Given the description of an element on the screen output the (x, y) to click on. 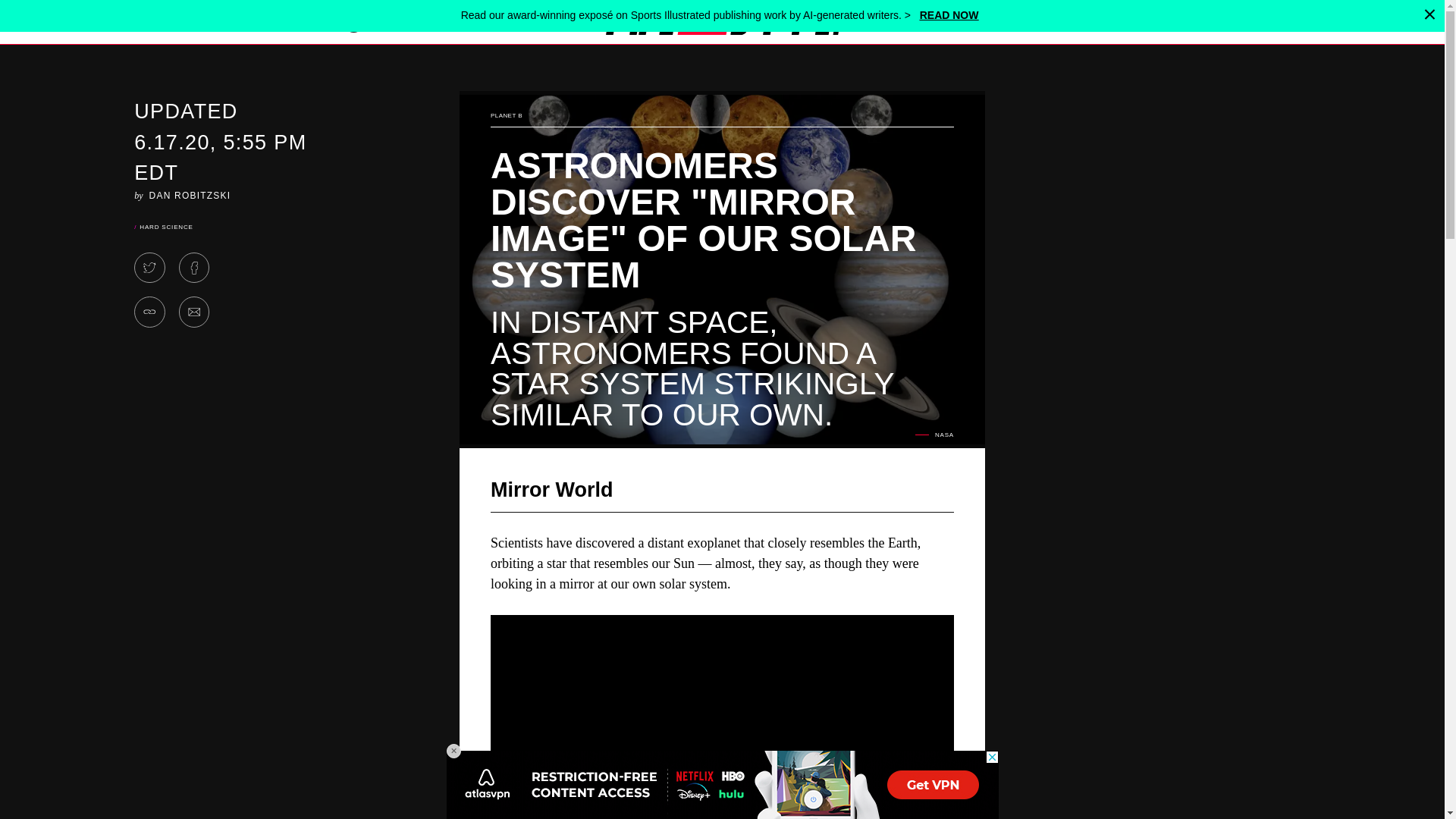
Dan Robitzski (190, 194)
The Byte (722, 22)
DAN ROBITZSKI (190, 194)
READ NOW (949, 15)
Hard Science (165, 226)
HARD SCIENCE (165, 226)
Copy Link (149, 311)
Tweet This (149, 267)
Share via Email (194, 311)
Share to Facebook (194, 267)
